Given the description of an element on the screen output the (x, y) to click on. 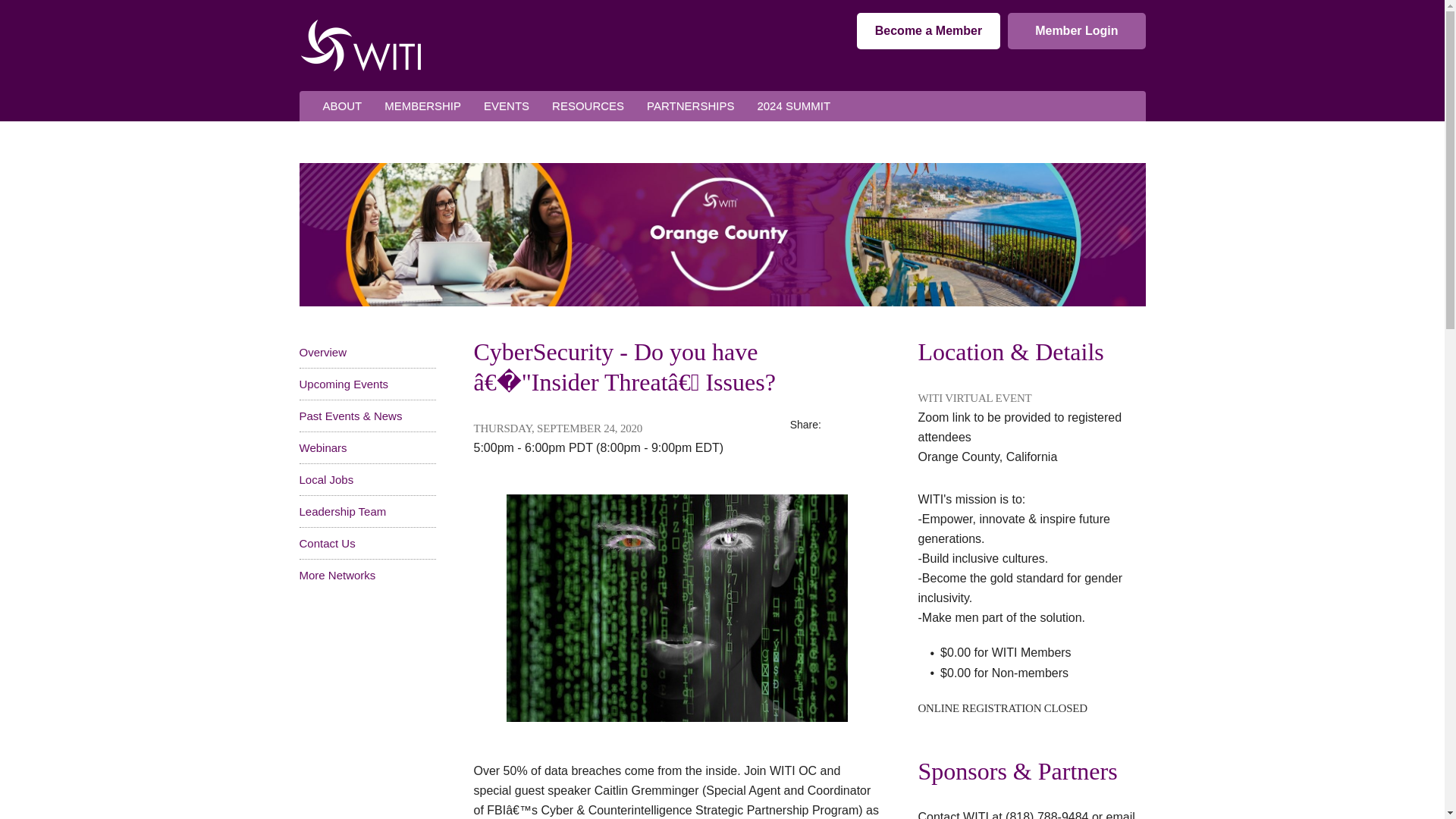
EVENTS (505, 106)
ABOUT (341, 106)
More Networks (336, 574)
Workforce Innovation, Trust, and Influence (359, 45)
PARTNERSHIPS (689, 106)
Contact Us (326, 543)
MEMBERSHIP (421, 106)
Local Jobs (325, 479)
Become a Member (928, 31)
Member Login (1075, 31)
